Given the description of an element on the screen output the (x, y) to click on. 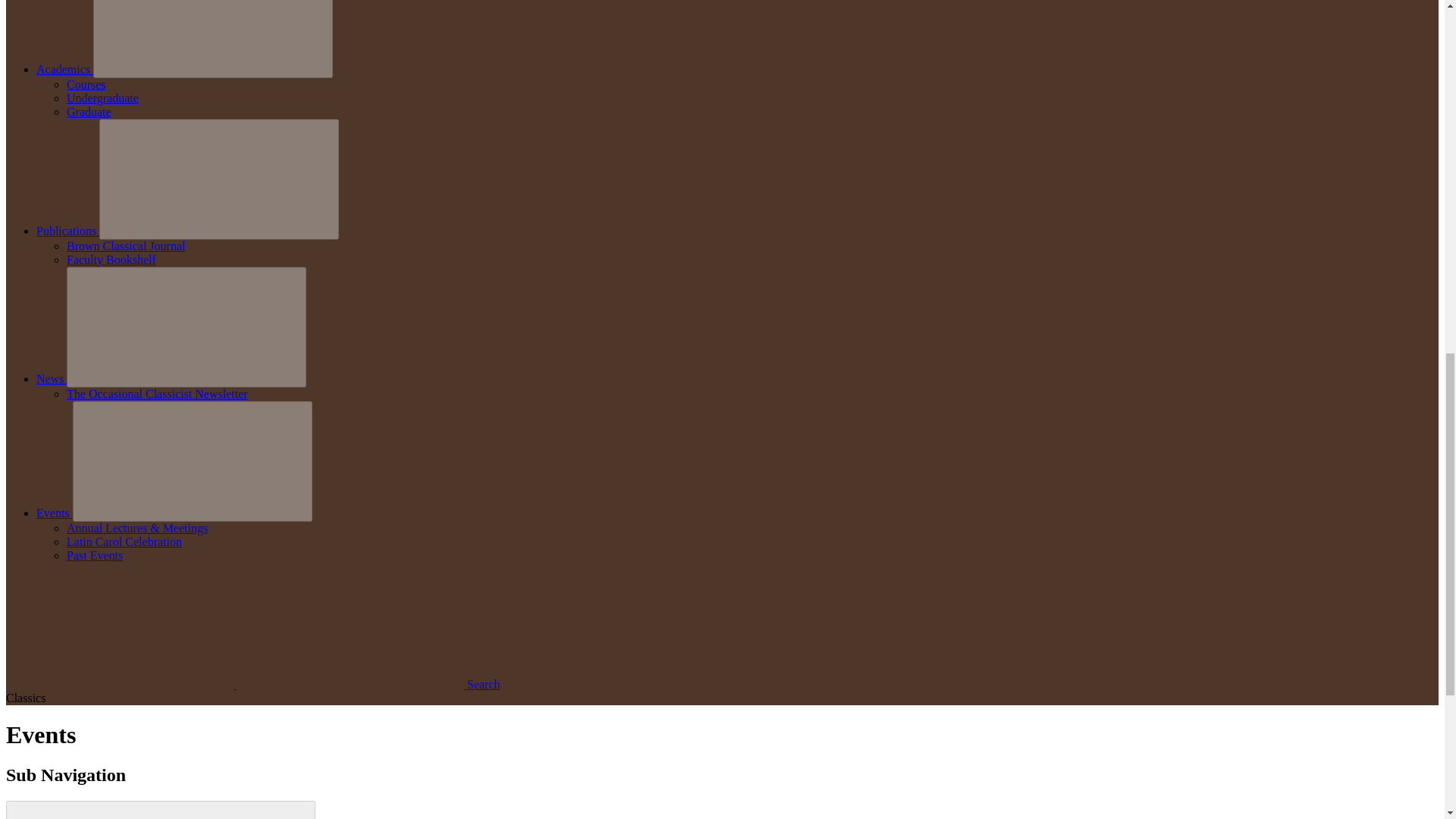
Publications (67, 230)
Past Events (94, 554)
Search (252, 684)
Events (54, 512)
Undergraduate (102, 97)
The Occasional Classicist Newsletter (156, 393)
Academics (64, 69)
Latin Carol Celebration (124, 541)
In This Section (160, 809)
Brown Classical Journal (125, 245)
